Given the description of an element on the screen output the (x, y) to click on. 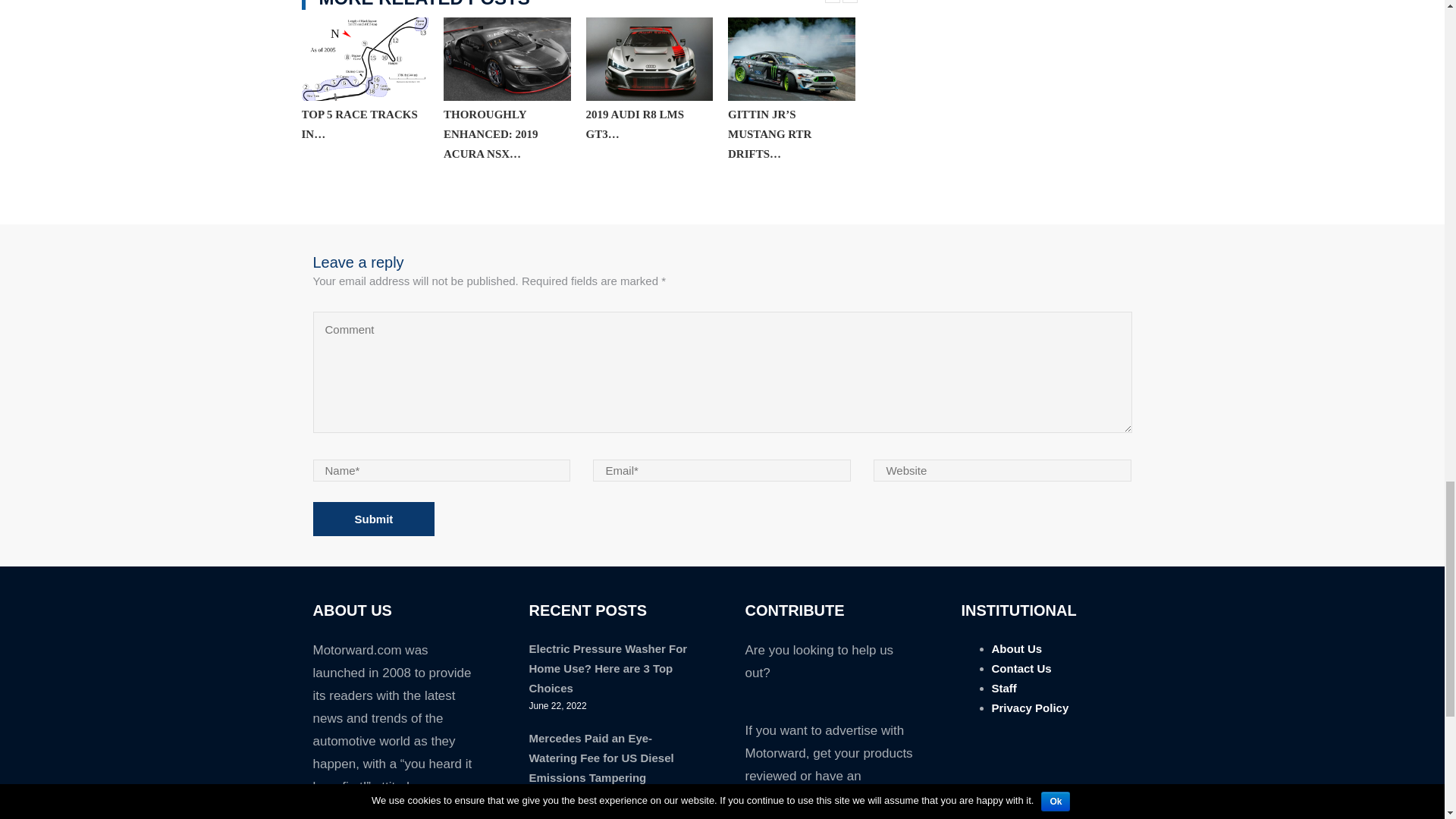
Submit (373, 519)
suzuka track 550x360 (365, 58)
mustang rtr nurbirgring drift 1 550x360 (792, 58)
2019 Audi R8 LMS GT3 0 550x360 (649, 58)
